Given the description of an element on the screen output the (x, y) to click on. 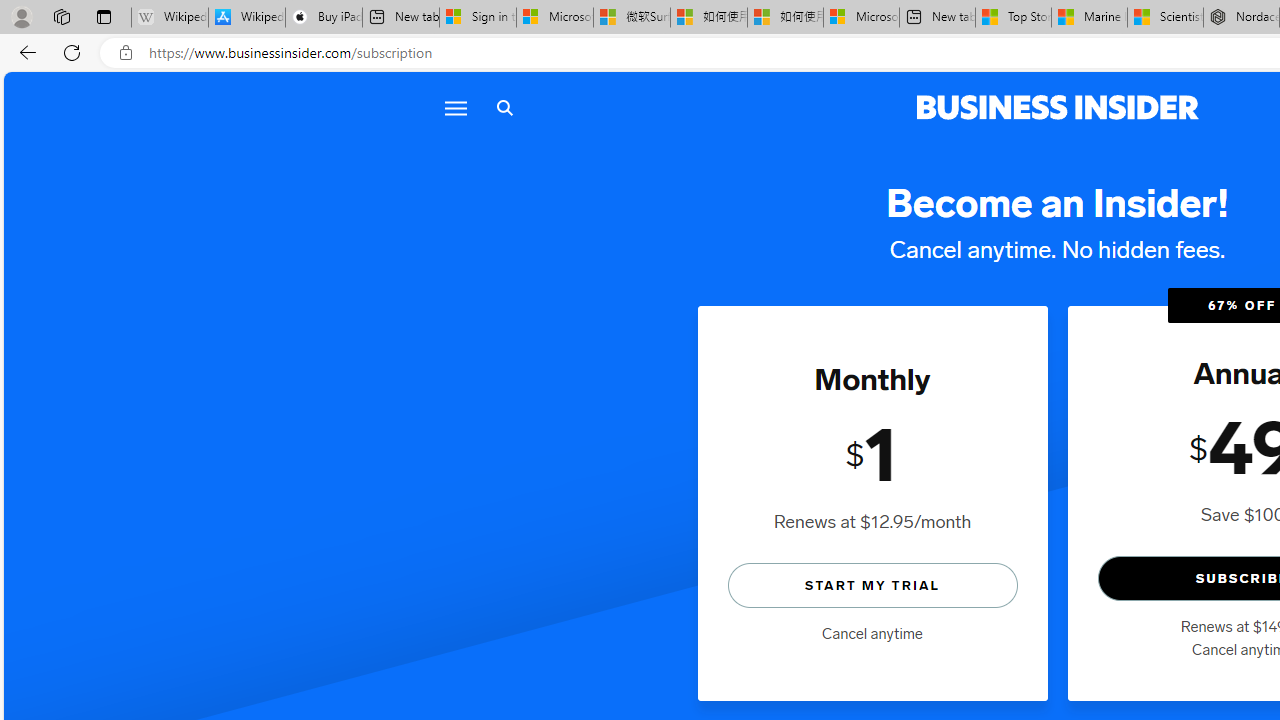
Search icon (504, 107)
Business Insider logo (1057, 107)
START MY TRIAL (872, 584)
Cancel anytime (872, 633)
